Given the description of an element on the screen output the (x, y) to click on. 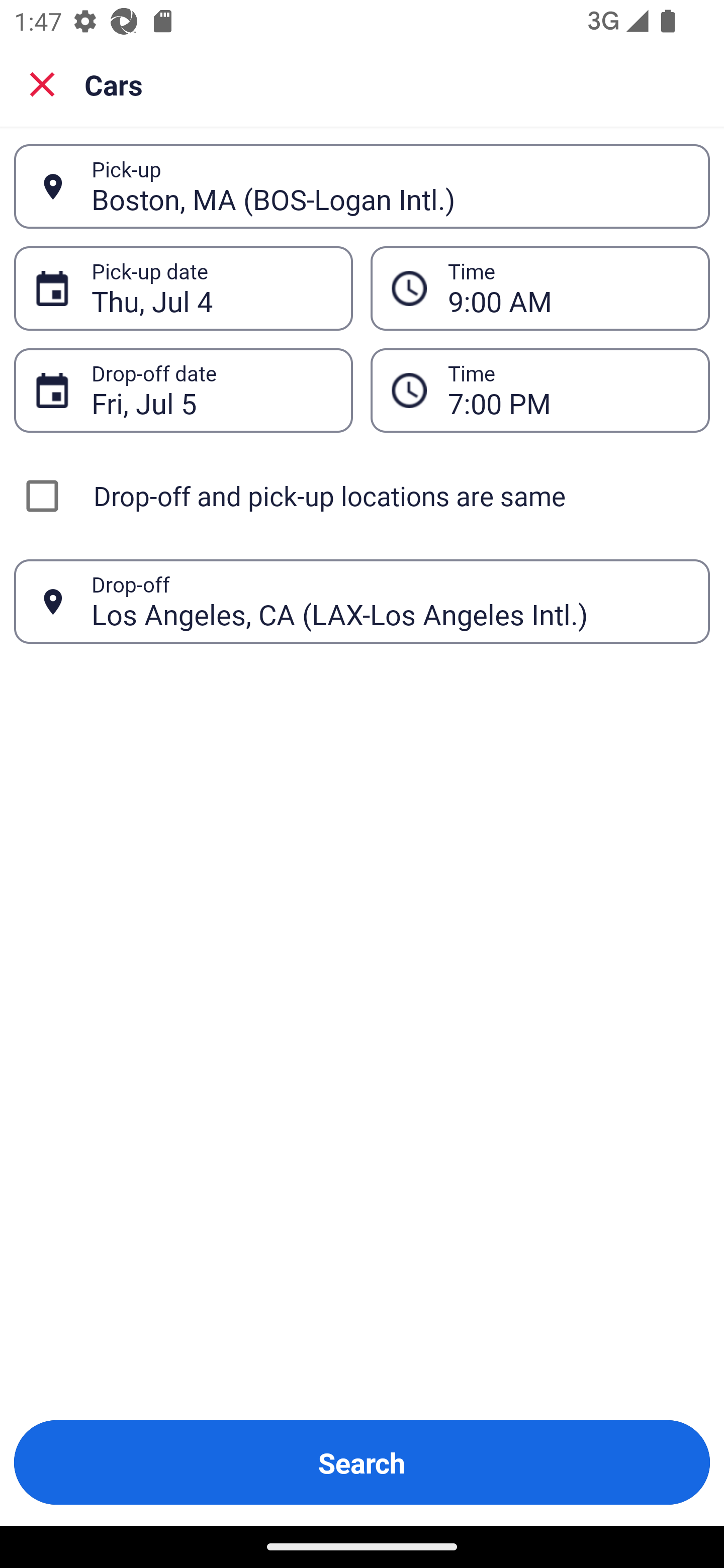
Close search screen (42, 84)
Boston, MA (BOS-Logan Intl.) (389, 186)
Thu, Jul 4 (211, 288)
9:00 AM (568, 288)
Fri, Jul 5 (211, 390)
7:00 PM (568, 390)
Drop-off and pick-up locations are same (361, 495)
Los Angeles, CA (LAX-Los Angeles Intl.) (389, 601)
Search Button Search (361, 1462)
